Given the description of an element on the screen output the (x, y) to click on. 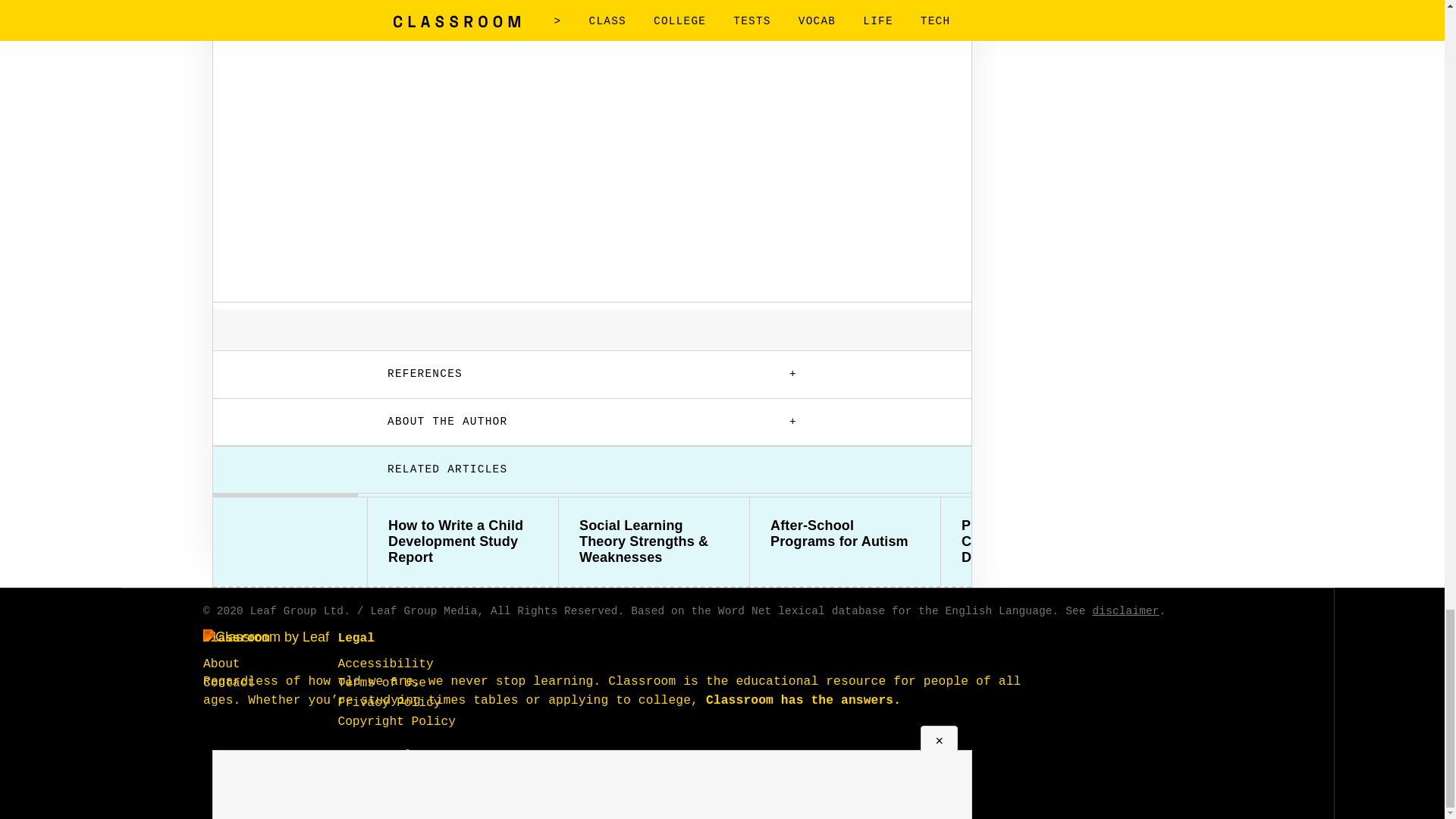
Terms of Use (381, 683)
How to Write a Child Development Study Report (462, 541)
What Are the Causes of Daydreaming in Children at School? (1227, 541)
Piaget's Stages of Cognitive Development (1035, 541)
About (221, 663)
After-School Programs for Autism (844, 533)
Accessibility (384, 663)
Contact (228, 683)
